Given the description of an element on the screen output the (x, y) to click on. 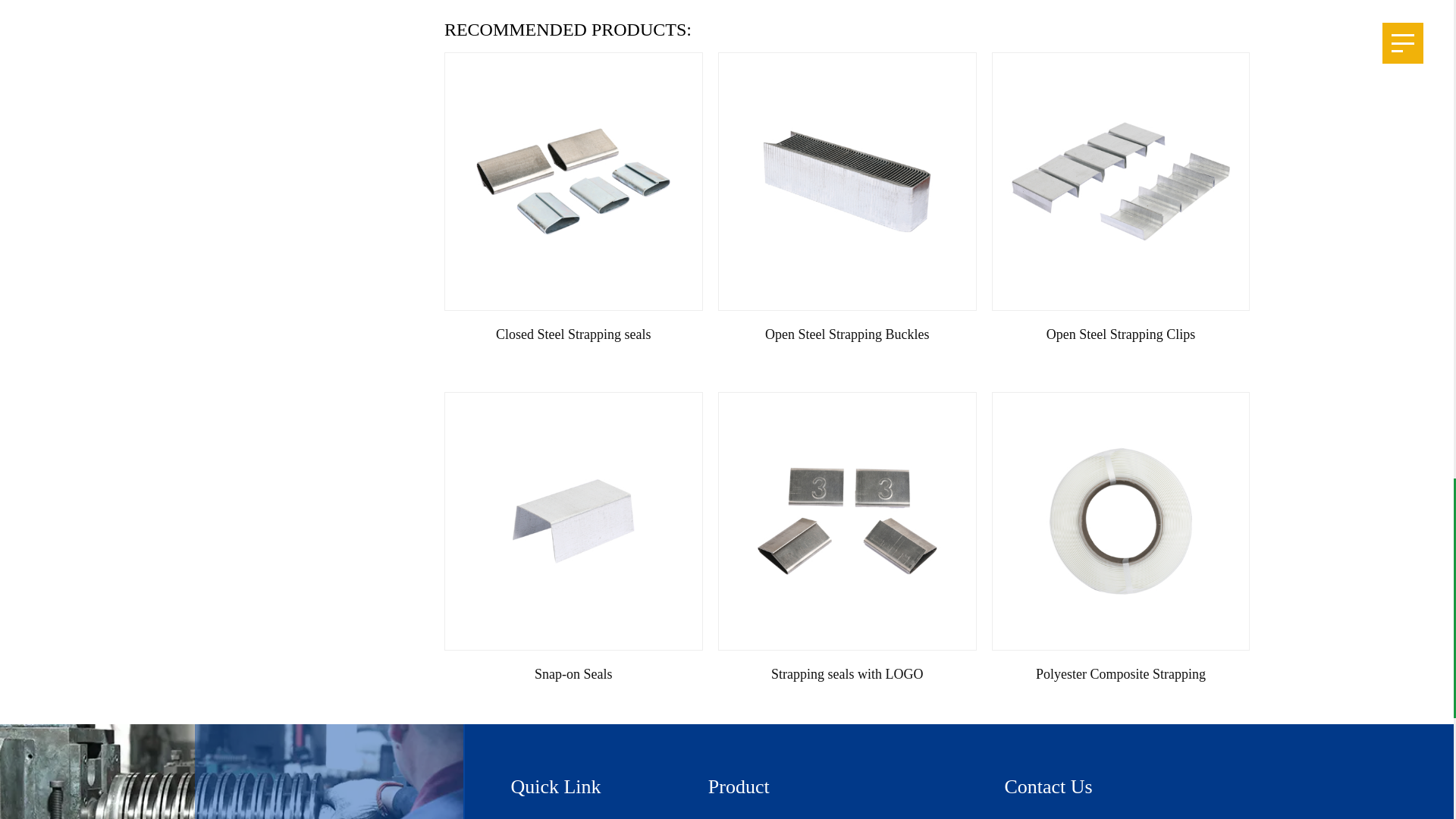
Polyester Composite Strapping (1120, 521)
Strapping seals with LOGO (847, 521)
Open Steel Strapping Clips  (1120, 181)
Closed Steel Strapping seals (573, 181)
Open Steel Strapping Buckles (847, 181)
Snap-on Seals (573, 521)
